Given the description of an element on the screen output the (x, y) to click on. 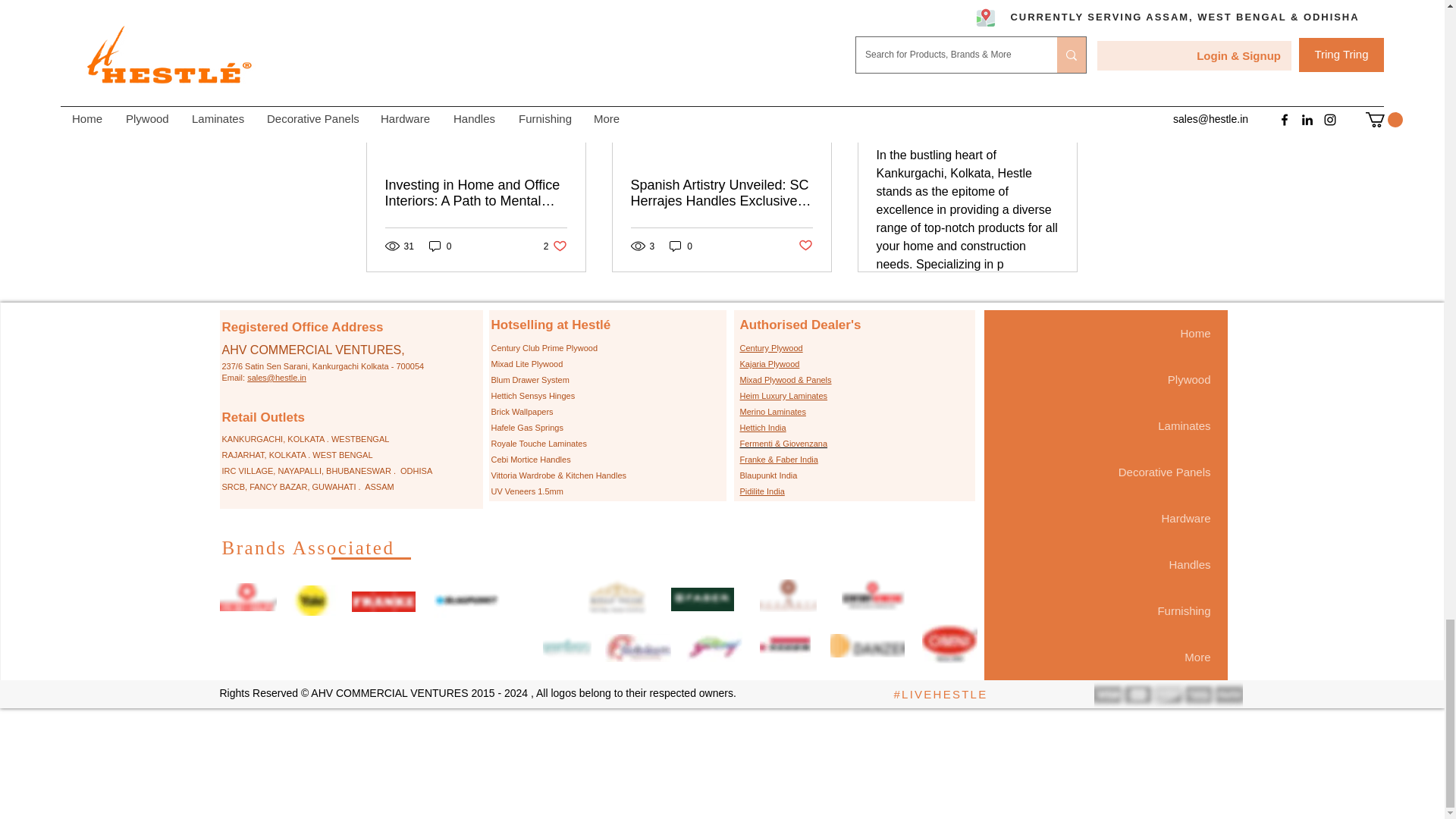
0 (555, 246)
See All (440, 246)
0 (1061, 10)
Post not marked as liked (681, 246)
